Given the description of an element on the screen output the (x, y) to click on. 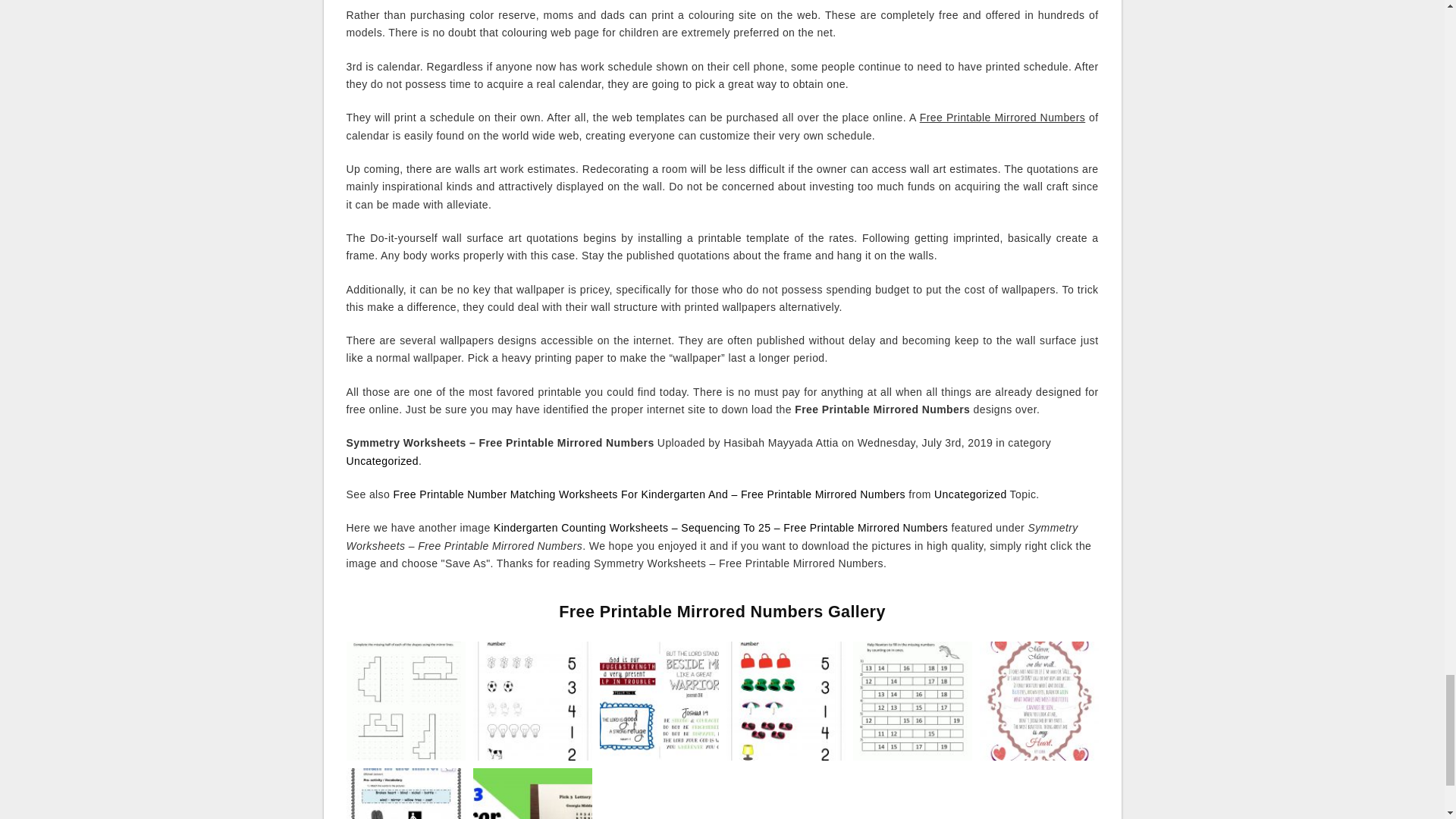
Symmetry Worksheets   Free Printable Mirrored Numbers (405, 700)
Symmetry Worksheets   Free Printable Mirrored Numbers (405, 700)
Uncategorized (381, 460)
Uncategorized (970, 494)
